Given the description of an element on the screen output the (x, y) to click on. 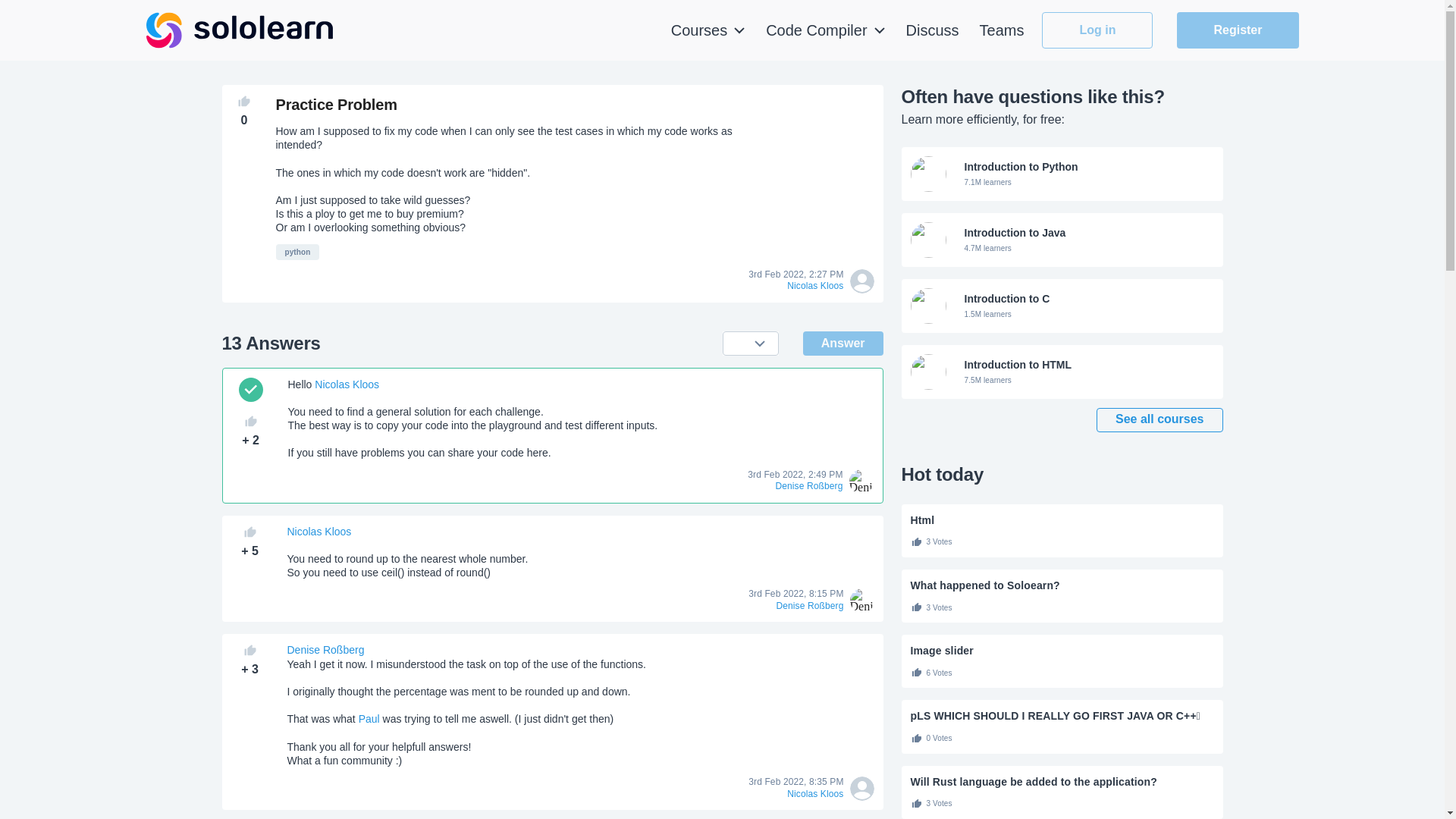
Teams (1002, 30)
Introduction to C (1062, 305)
Html (1061, 520)
Code Compiler (1062, 305)
Nicolas Kloos (825, 29)
Log in (346, 383)
Introduction to Java (1097, 30)
Discuss (1062, 239)
